Given the description of an element on the screen output the (x, y) to click on. 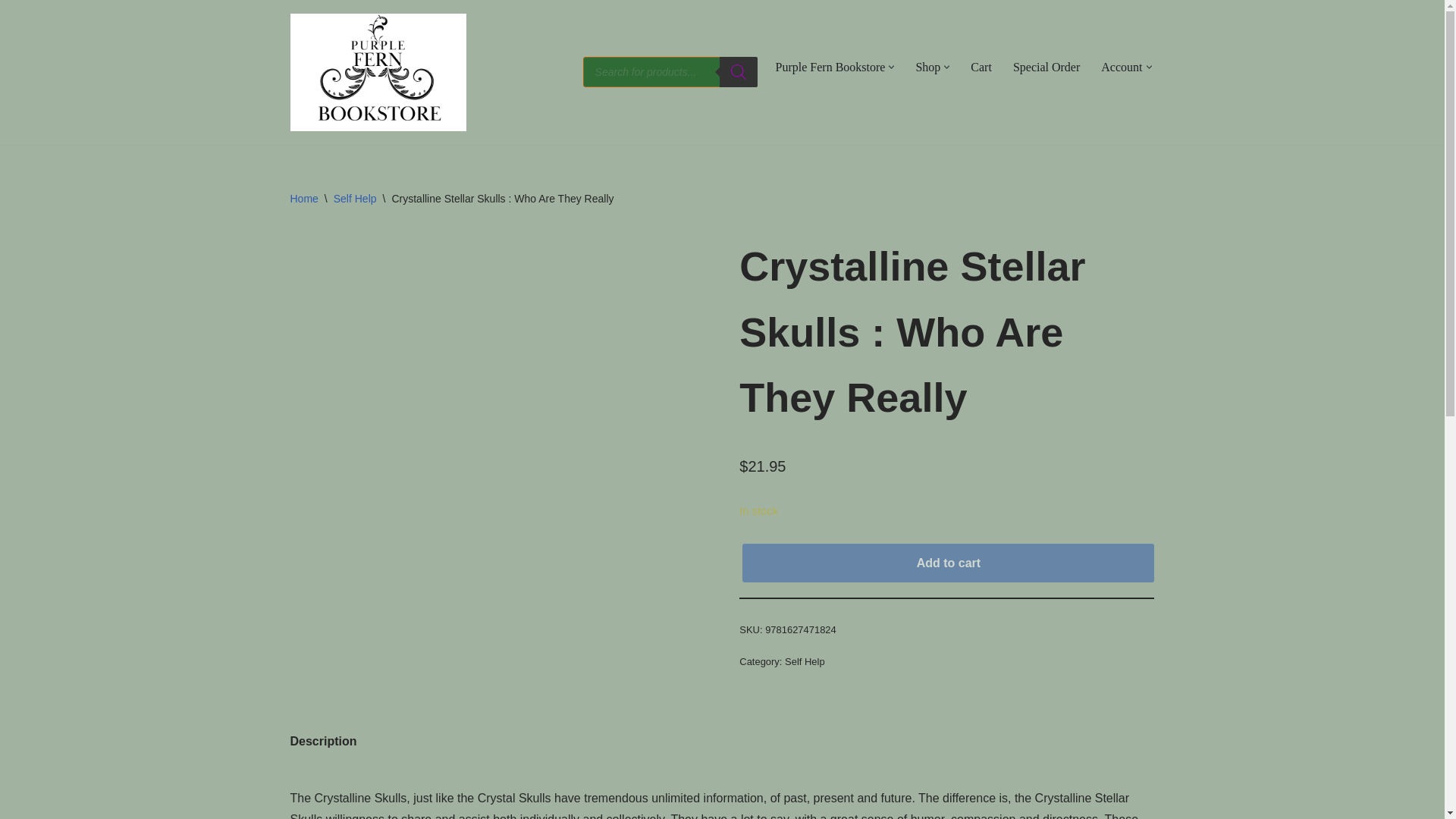
Account (1120, 66)
Self Help (355, 198)
Purple Fern Bookstore (830, 66)
Description (322, 740)
Cart (981, 66)
Special Order (1046, 66)
Self Help (804, 661)
Shop (927, 66)
Home (303, 198)
Skip to content (11, 31)
